Given the description of an element on the screen output the (x, y) to click on. 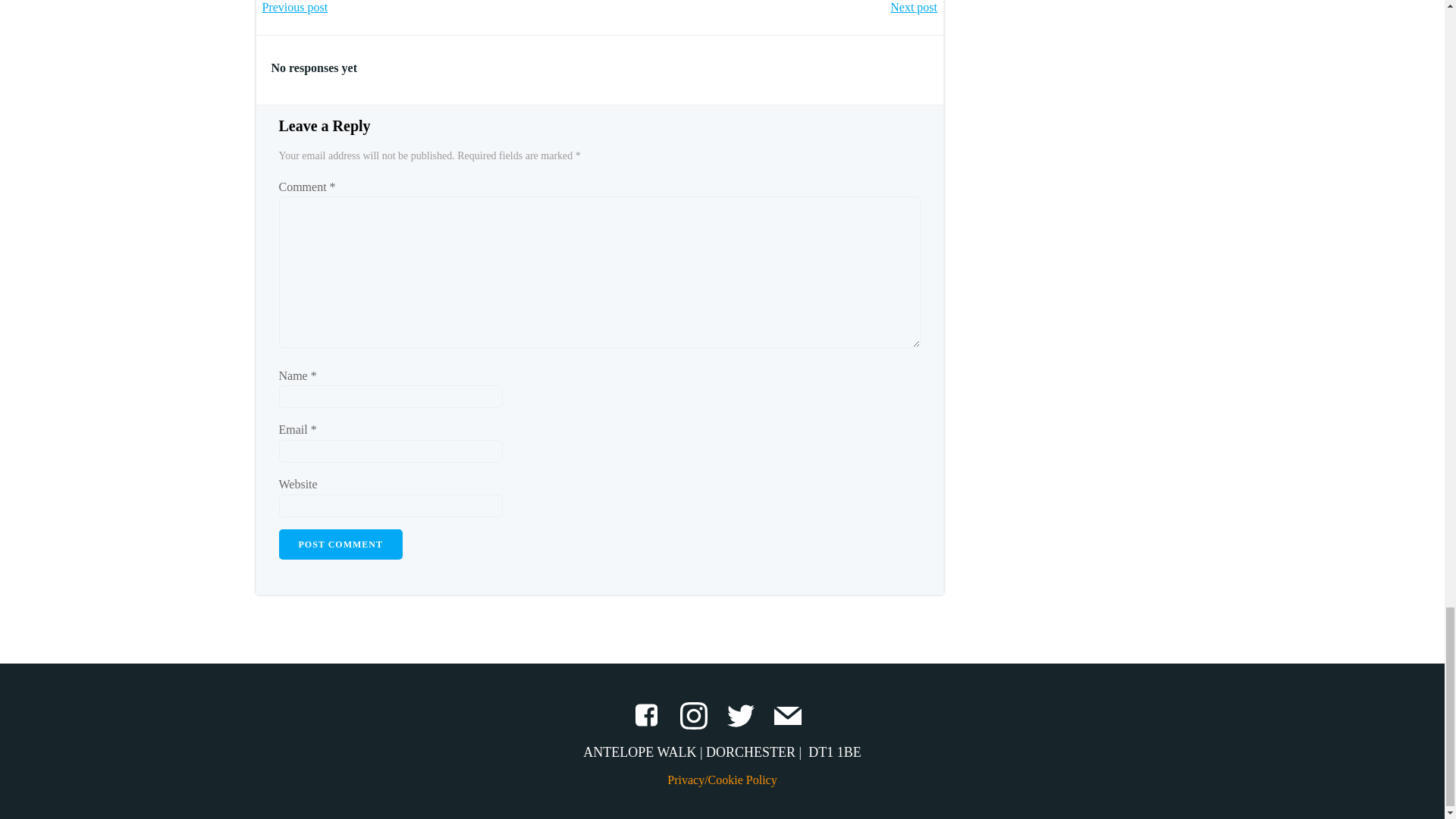
Post Comment (341, 544)
Post Comment (341, 544)
Next post (913, 8)
Previous post (295, 8)
